Given the description of an element on the screen output the (x, y) to click on. 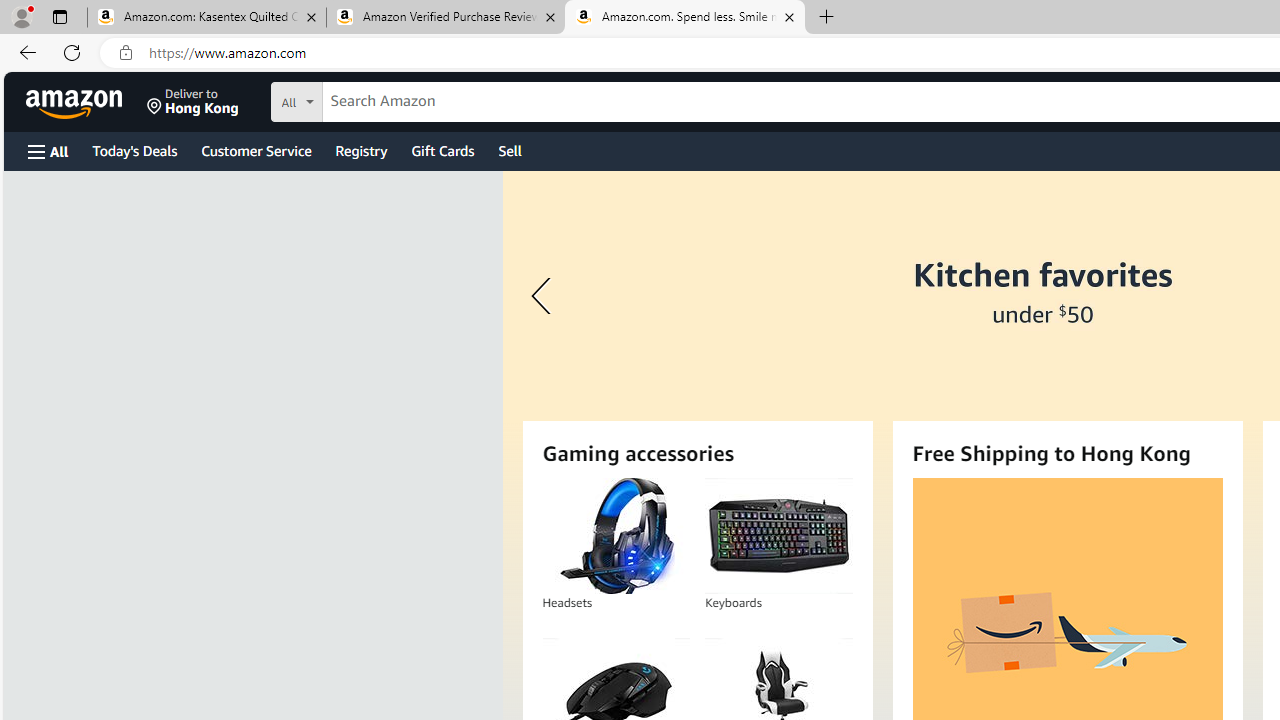
Today's Deals (134, 150)
Previous slide (544, 296)
Open Menu (48, 151)
Sell (509, 150)
Keyboards (778, 536)
Keyboards (778, 536)
Search in (371, 99)
Deliver to Hong Kong (193, 101)
